Given the description of an element on the screen output the (x, y) to click on. 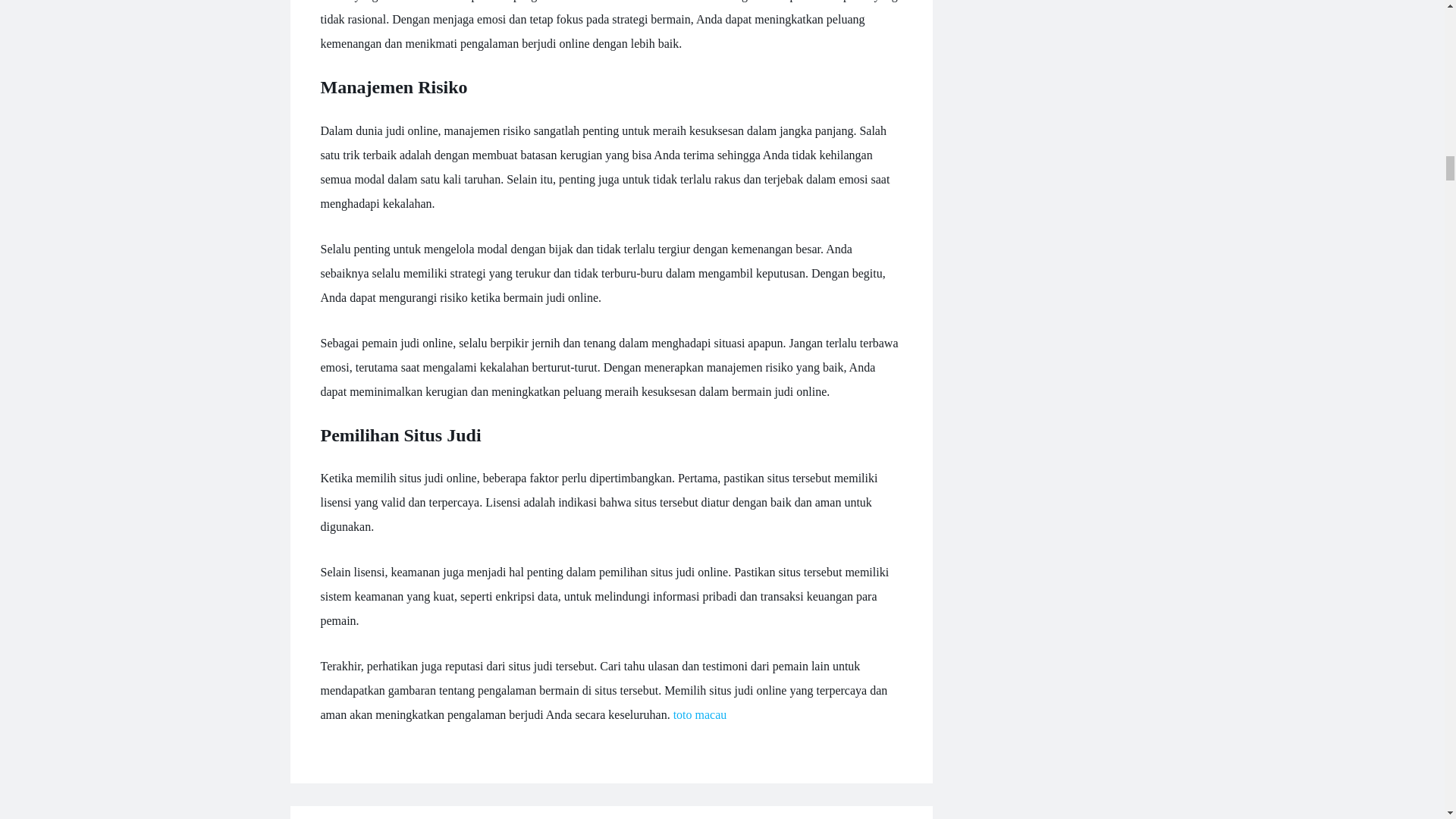
toto macau (699, 714)
